Given the description of an element on the screen output the (x, y) to click on. 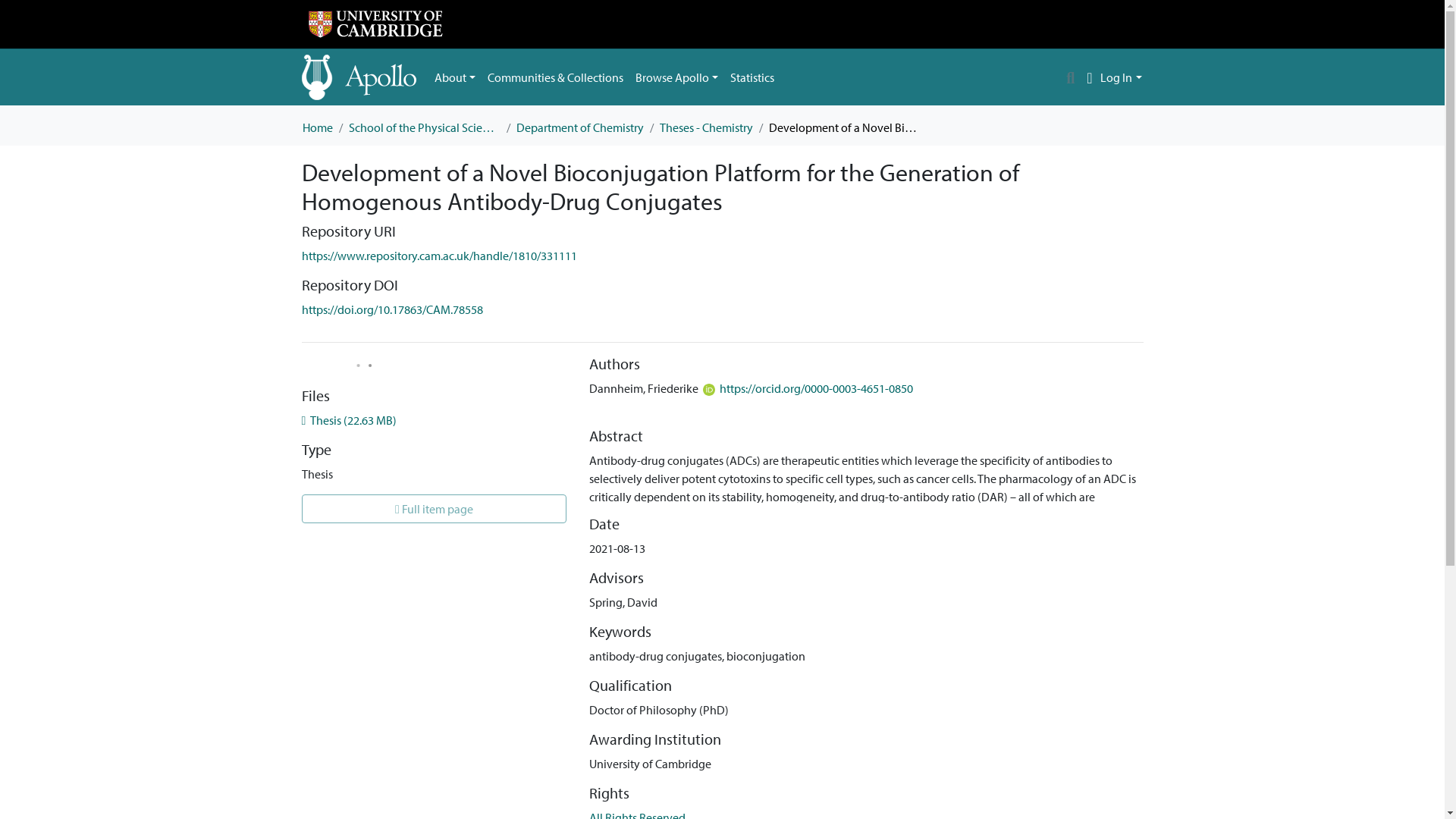
Home (316, 126)
Search (1070, 76)
About (454, 77)
School of the Physical Sciences (424, 126)
Statistics (751, 77)
Statistics (751, 77)
Browse Apollo (675, 77)
Department of Chemistry (579, 126)
All Rights Reserved (637, 814)
Theses - Chemistry (705, 126)
Full item page (434, 508)
Log In (1120, 77)
Language switch (1089, 76)
